Given the description of an element on the screen output the (x, y) to click on. 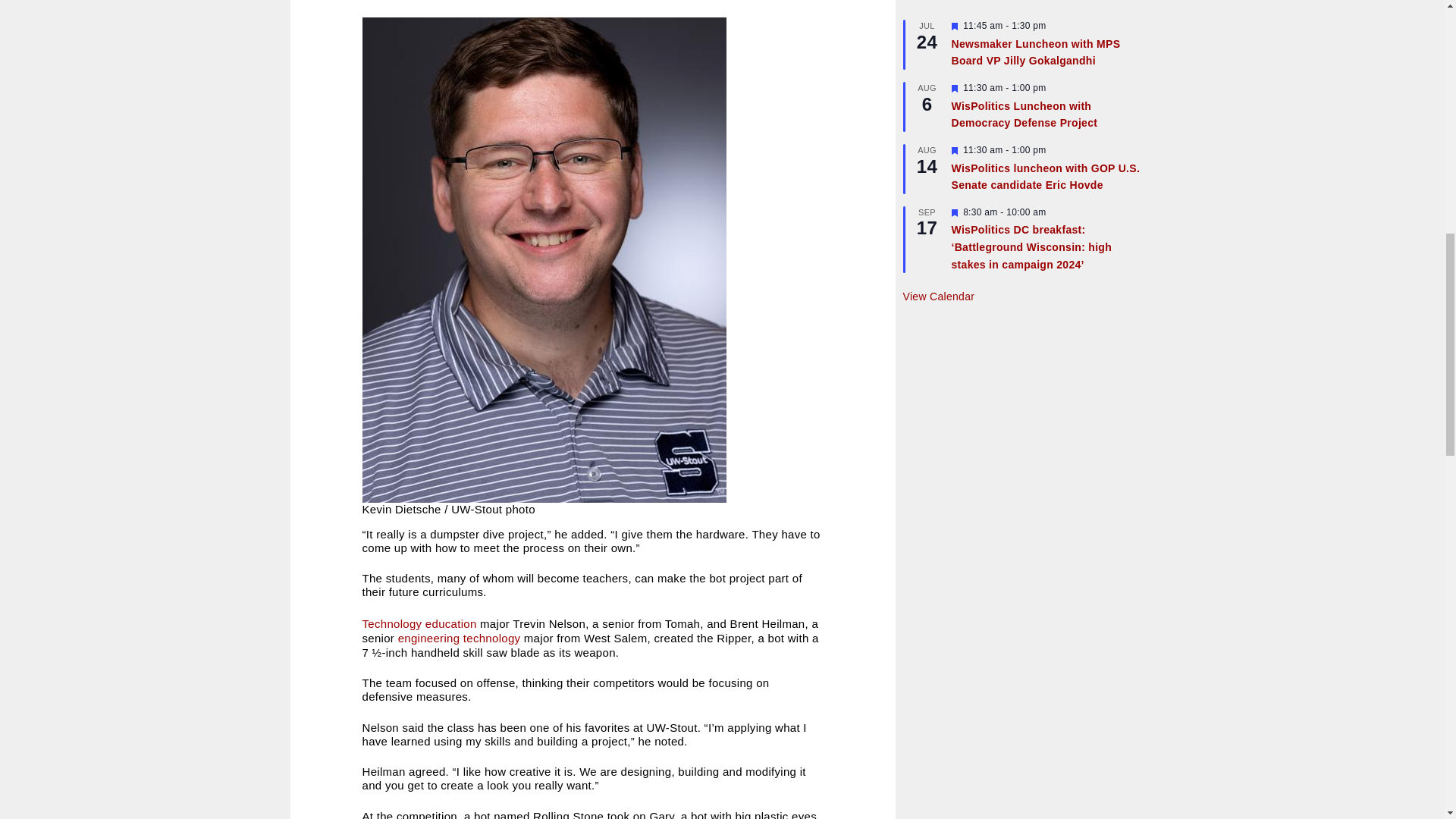
WisPolitics Luncheon with Democracy Defense Project (1023, 114)
Newsmaker Luncheon with MPS Board VP Jilly Gokalgandhi (1034, 52)
View more events. (938, 296)
